Given the description of an element on the screen output the (x, y) to click on. 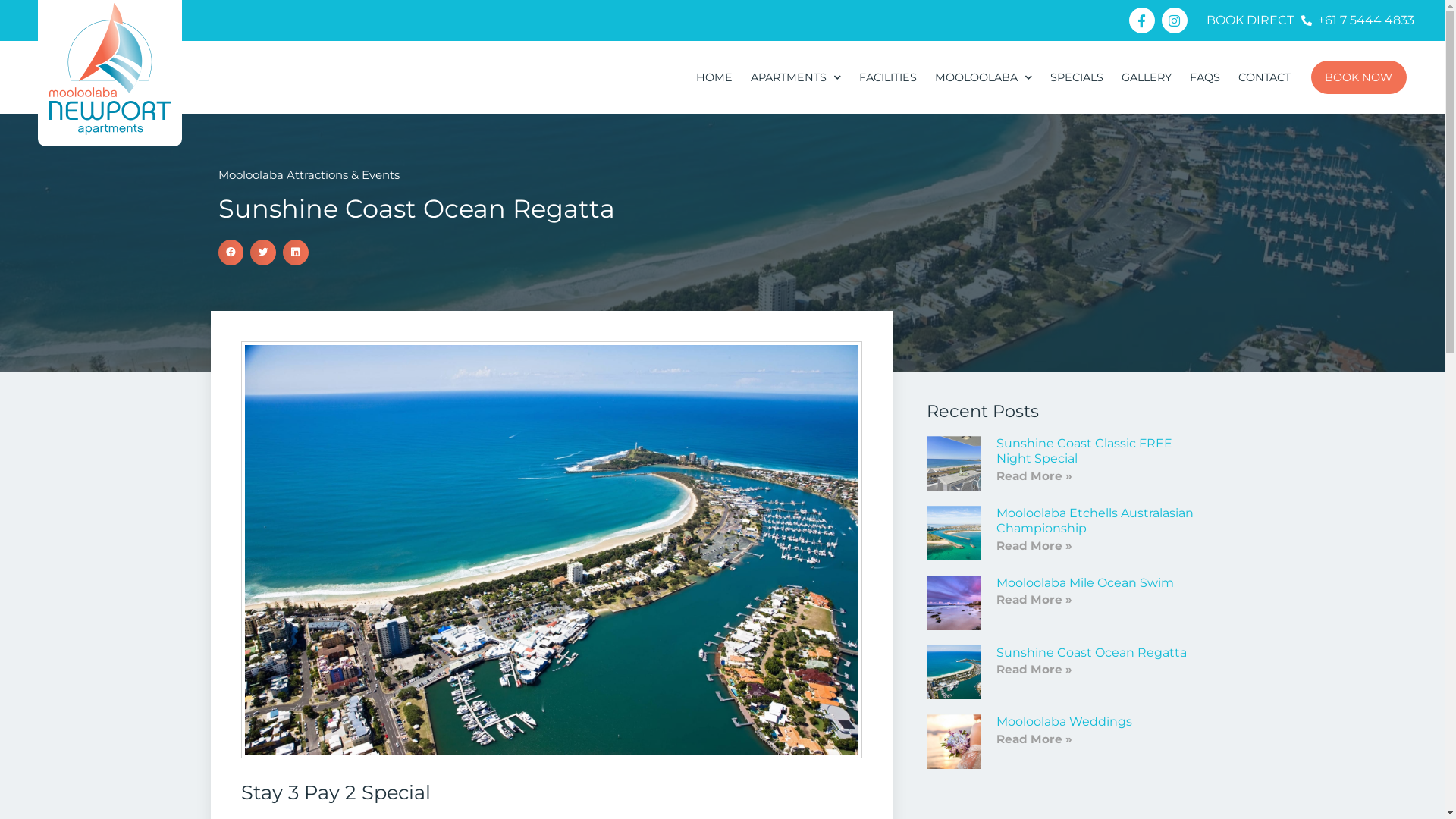
GALLERY Element type: text (1146, 76)
FACILITIES Element type: text (887, 76)
Mooloolaba Etchells Australasian Championship Element type: text (1094, 520)
Mooloolaba Mile Ocean Swim Element type: text (1084, 582)
+61 7 5444 4833 Element type: text (1358, 20)
CONTACT Element type: text (1264, 76)
Sunshine Coast Ocean Regatta Element type: text (1091, 651)
Mooloolaba Weddings Element type: text (1064, 721)
Mooloolaba Attractions & Events Element type: text (308, 174)
BOOK NOW Element type: text (1358, 77)
FAQS Element type: text (1204, 76)
HOME Element type: text (714, 76)
APARTMENTS Element type: text (795, 76)
Sunshine Coast Classic FREE Night Special Element type: text (1084, 451)
MOOLOOLABA Element type: text (983, 76)
SPECIALS Element type: text (1076, 76)
